Given the description of an element on the screen output the (x, y) to click on. 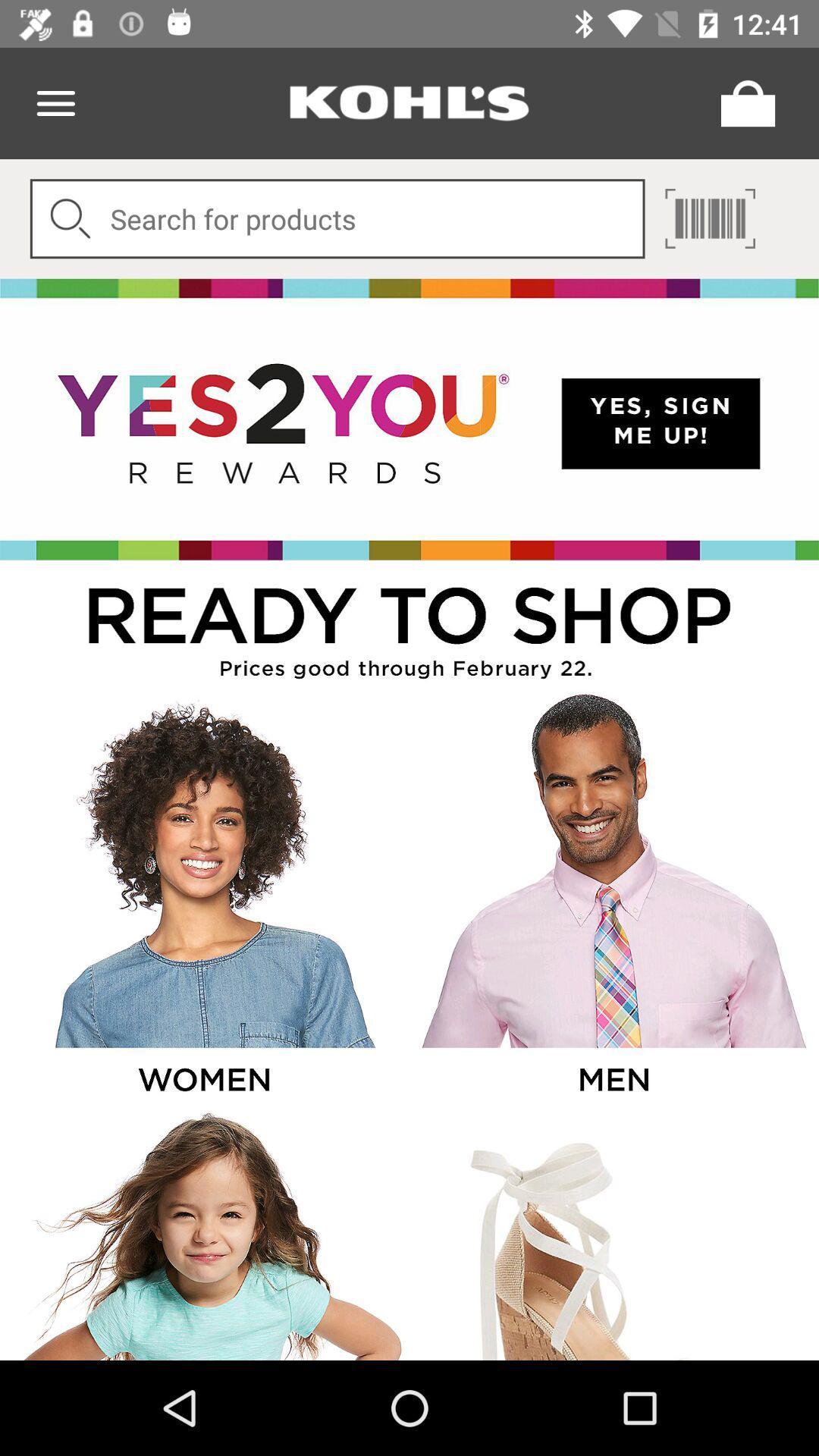
advertisement page (409, 419)
